Given the description of an element on the screen output the (x, y) to click on. 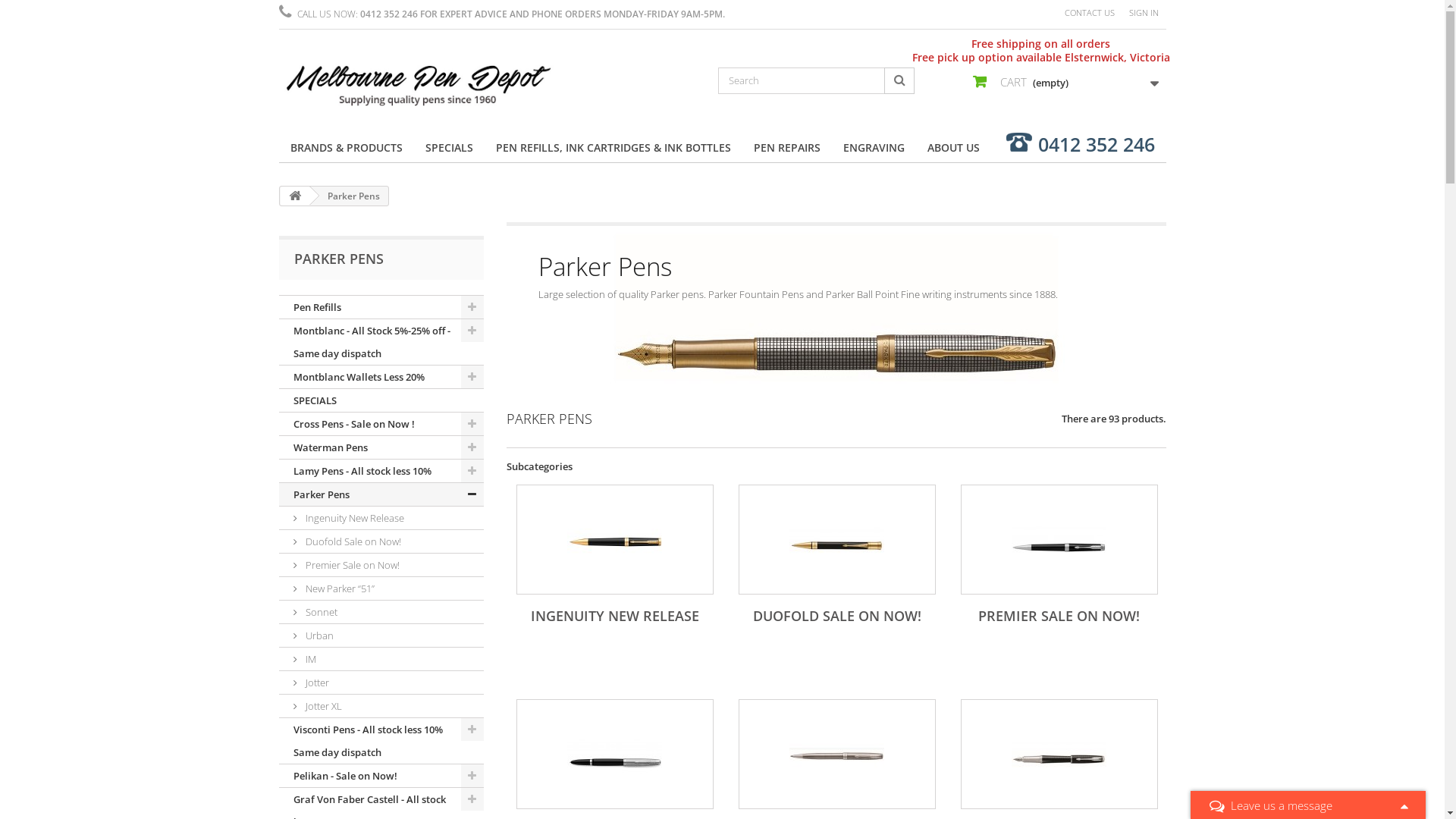
Duofold Sale on Now! Element type: text (381, 541)
Jotter XL Element type: text (381, 706)
Premier Sale on Now! Element type: hover (1058, 539)
CART (empty) Element type: text (1062, 84)
ENGRAVING Element type: text (873, 148)
Montblanc Wallets Less 20% Element type: text (381, 377)
Visconti Pens - All stock less 10% Same day dispatch Element type: text (381, 741)
PEN REFILLS, INK CARTRIDGES & INK BOTTLES Element type: text (612, 148)
INGENUITY NEW RELEASE Element type: text (614, 615)
Duofold Sale on Now! Element type: hover (836, 539)
PEN REPAIRS Element type: text (786, 148)
SPECIALS Element type: text (381, 400)
Sonnet Element type: text (381, 612)
Lamy Pens - All stock less 10% Element type: text (381, 471)
SPECIALS Element type: text (449, 148)
Waterman Pens Element type: text (381, 447)
Cross Pens - Sale on Now ! Element type: text (381, 424)
Return to Home Element type: hover (294, 195)
Melbourne Pen Depot Element type: hover (419, 83)
Pelikan - Sale on Now! Element type: text (381, 775)
Sonnet Element type: hover (836, 754)
CONTACT US Element type: text (1089, 14)
Urban Element type: hover (1058, 754)
0412 352 246 Element type: text (1096, 144)
IM Element type: text (381, 659)
Ingenuity New Release  Element type: hover (613, 539)
PREMIER SALE ON NOW! Element type: text (1058, 615)
Jotter Element type: text (381, 682)
DUOFOLD SALE ON NOW! Element type: text (836, 615)
SIGN IN Element type: text (1143, 14)
ABOUT US Element type: text (953, 148)
BRANDS & PRODUCTS Element type: text (346, 148)
Montblanc - All Stock 5%-25% off - Same day dispatch Element type: text (381, 342)
Urban Element type: text (381, 635)
Parker Pens Element type: text (381, 494)
Pen Refills Element type: text (381, 307)
Premier Sale on Now! Element type: text (381, 565)
Ingenuity New Release Element type: text (381, 518)
